Given the description of an element on the screen output the (x, y) to click on. 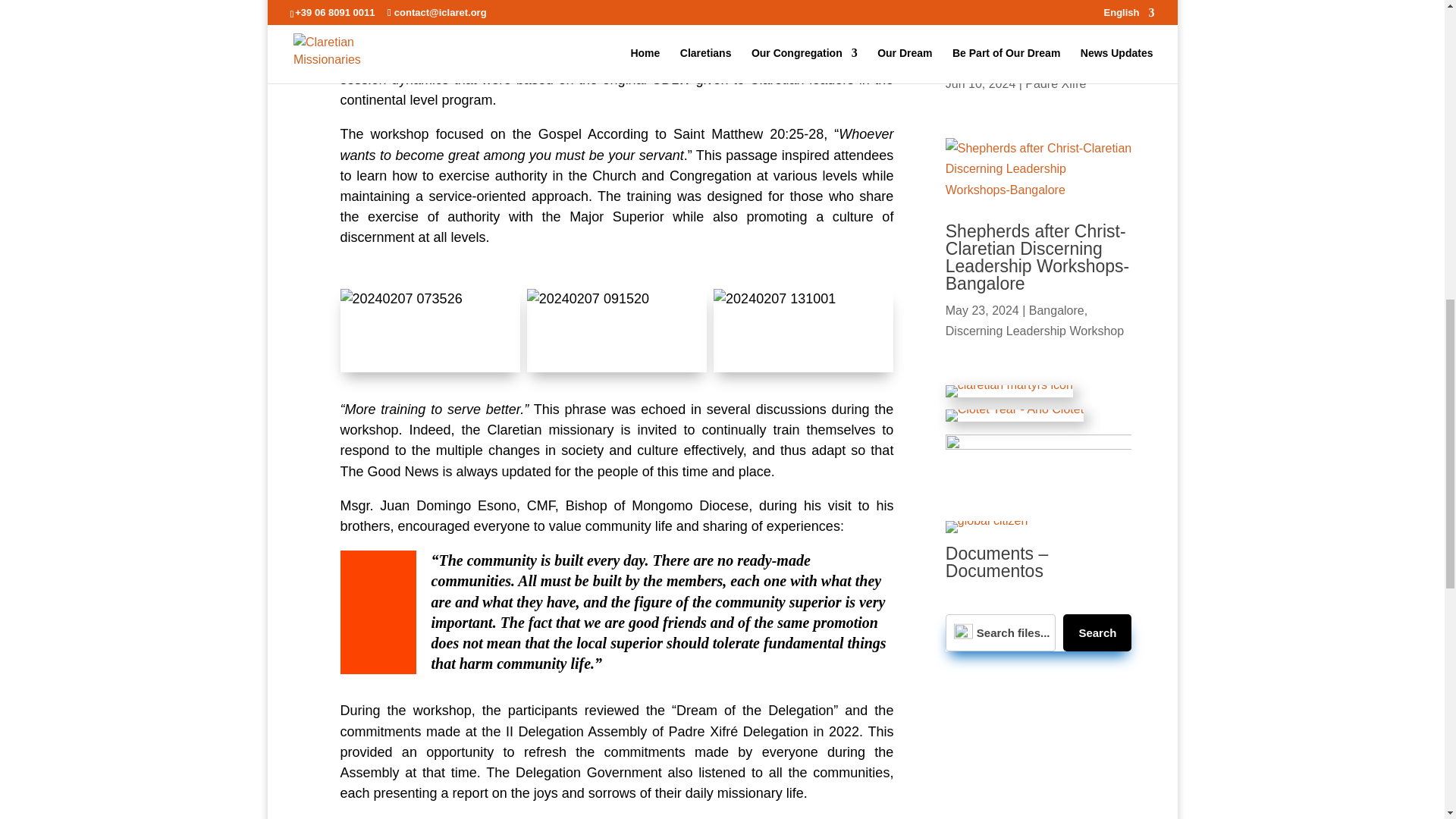
20240207 073526 1 (429, 330)
20240207 091520 2 (616, 330)
20240207 131001 3 (803, 330)
Padre Xifre (1055, 83)
